Given the description of an element on the screen output the (x, y) to click on. 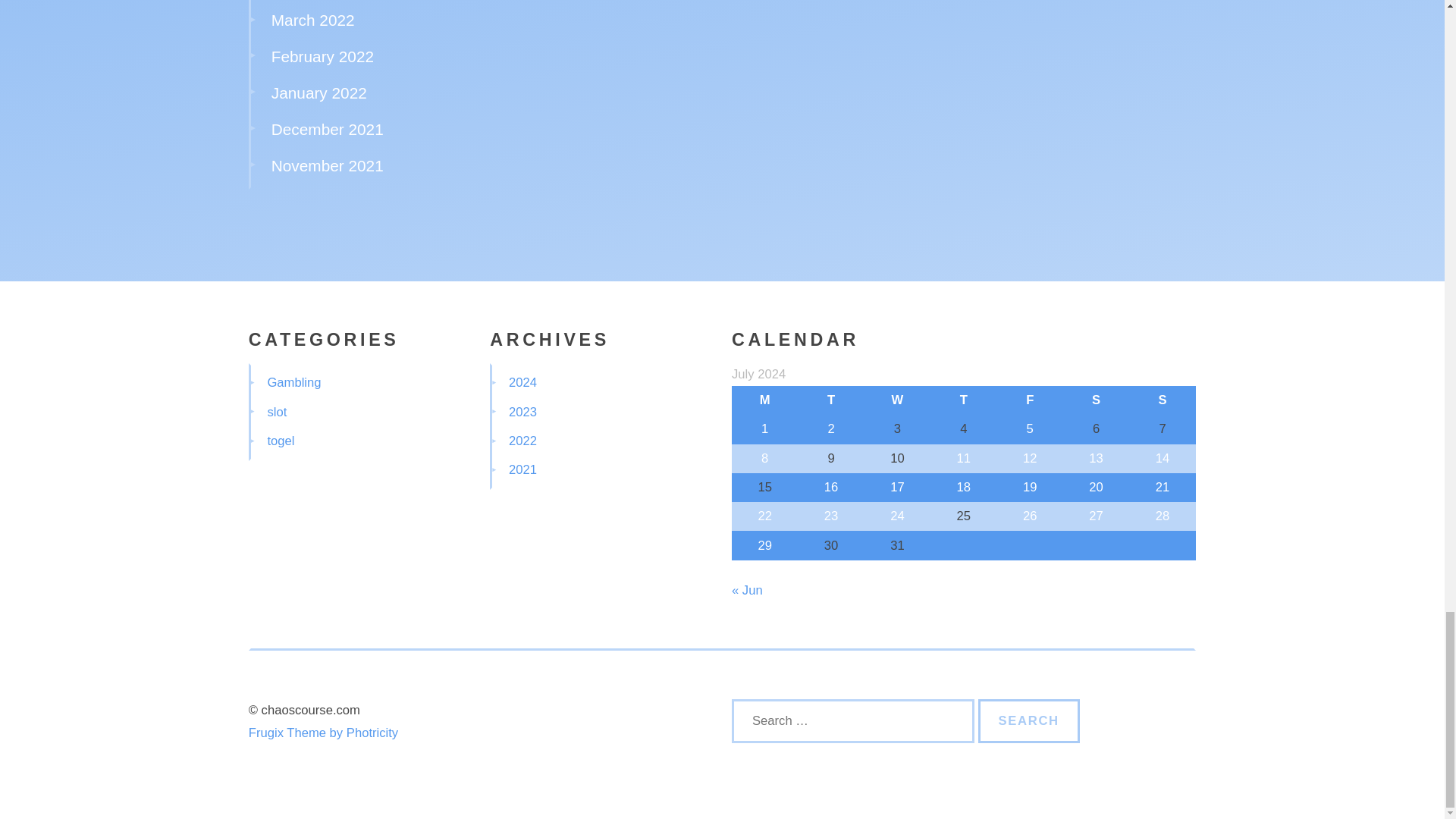
Friday (1029, 399)
Tuesday (830, 399)
Thursday (962, 399)
Search (1029, 720)
Sunday (1162, 399)
Search (1029, 720)
Wednesday (897, 399)
Monday (764, 399)
Saturday (1095, 399)
